Given the description of an element on the screen output the (x, y) to click on. 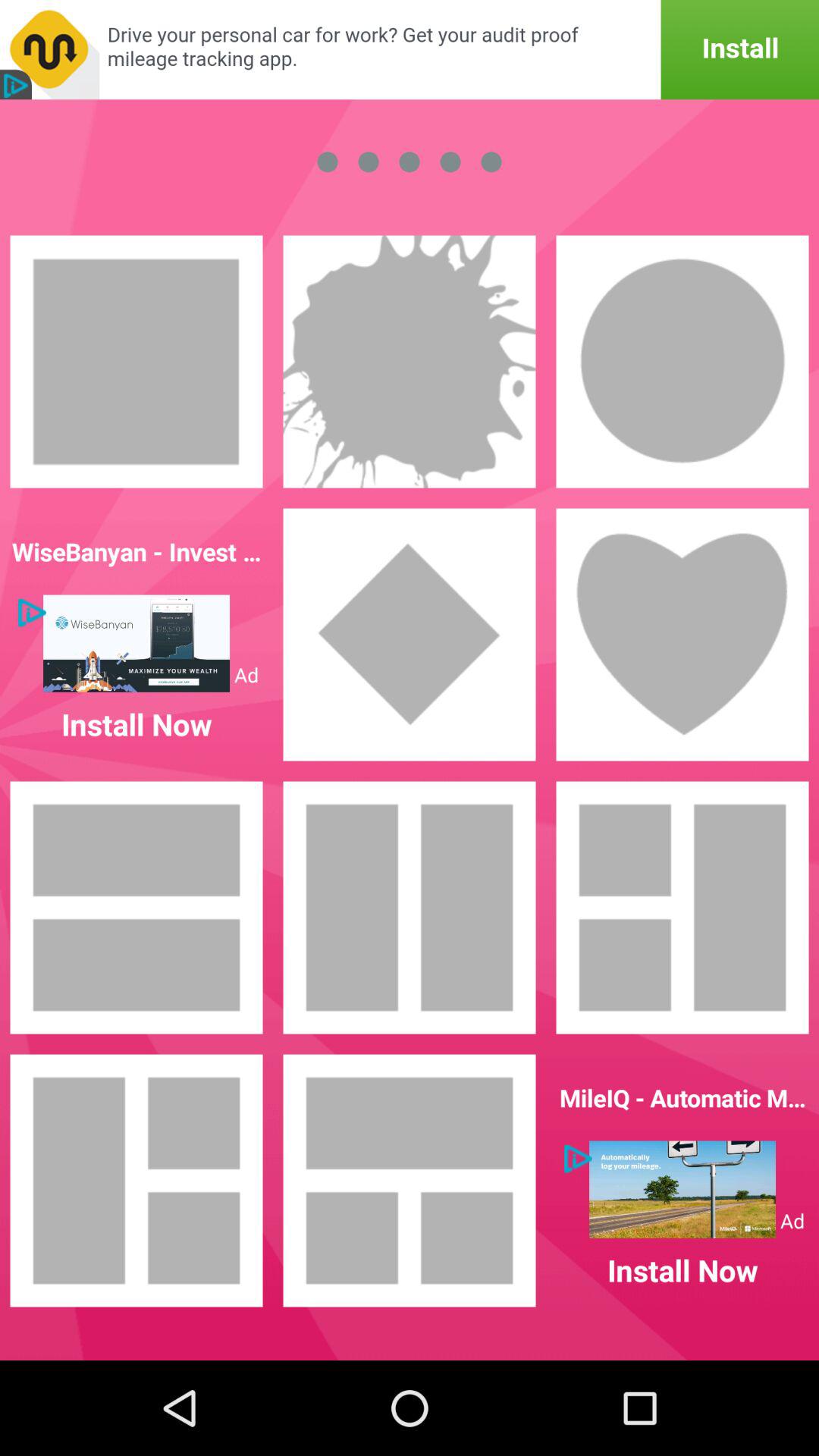
choose the circle picture frame (682, 361)
